Given the description of an element on the screen output the (x, y) to click on. 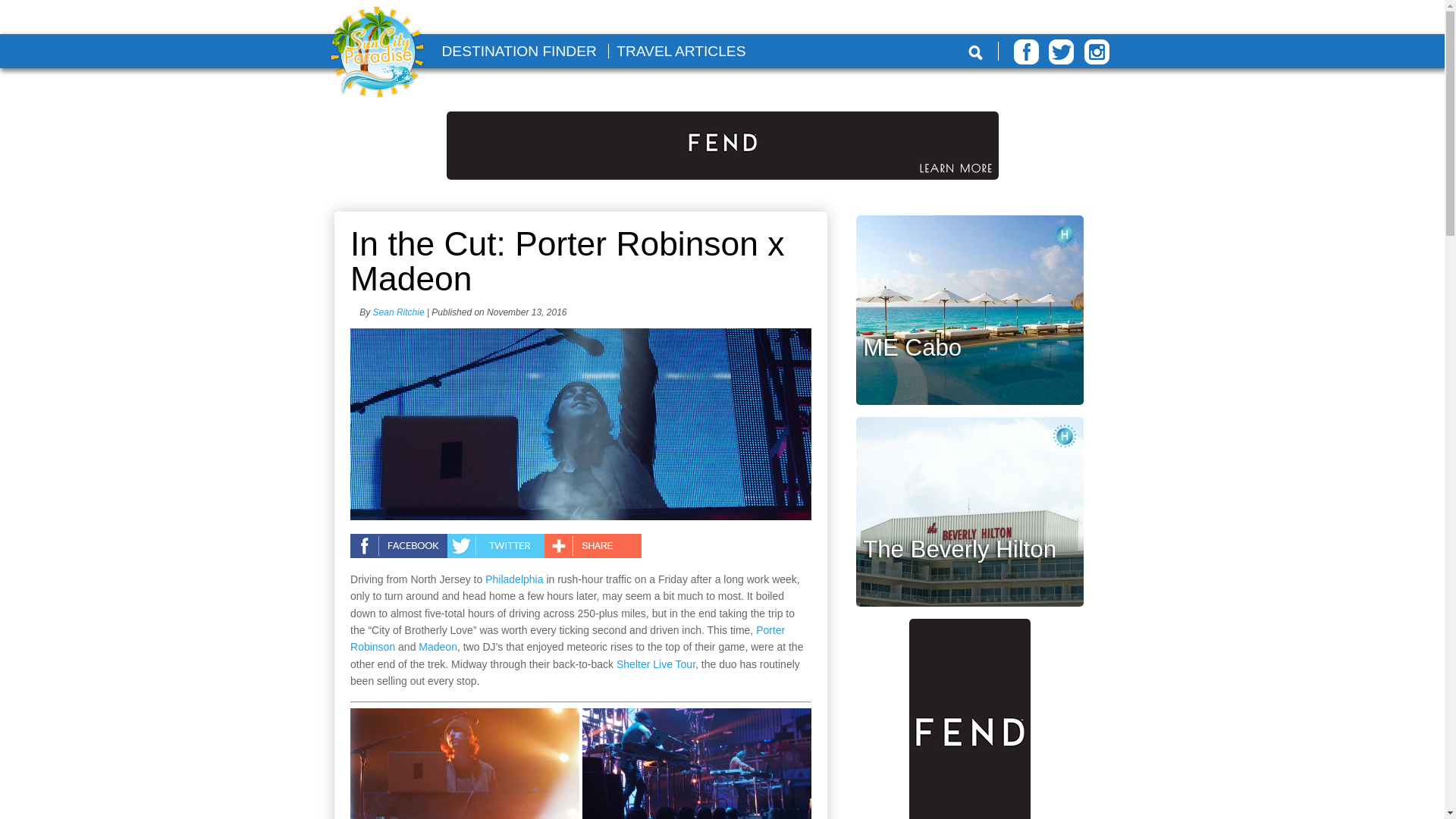
Porter Robinson (567, 638)
SunCity Paradise (376, 53)
Sean Ritchie (398, 312)
Madeon (438, 646)
DESTINATION FINDER (518, 50)
Instagram (1096, 51)
Twitter (1061, 51)
Sean Ritchie (398, 312)
Destination Finder (518, 50)
Philadelphia (513, 579)
The Beverly Hilton (960, 549)
ME Cabo (911, 347)
Shelter Live Tour (655, 664)
Facebook (1026, 51)
Travel Articles (680, 50)
